Given the description of an element on the screen output the (x, y) to click on. 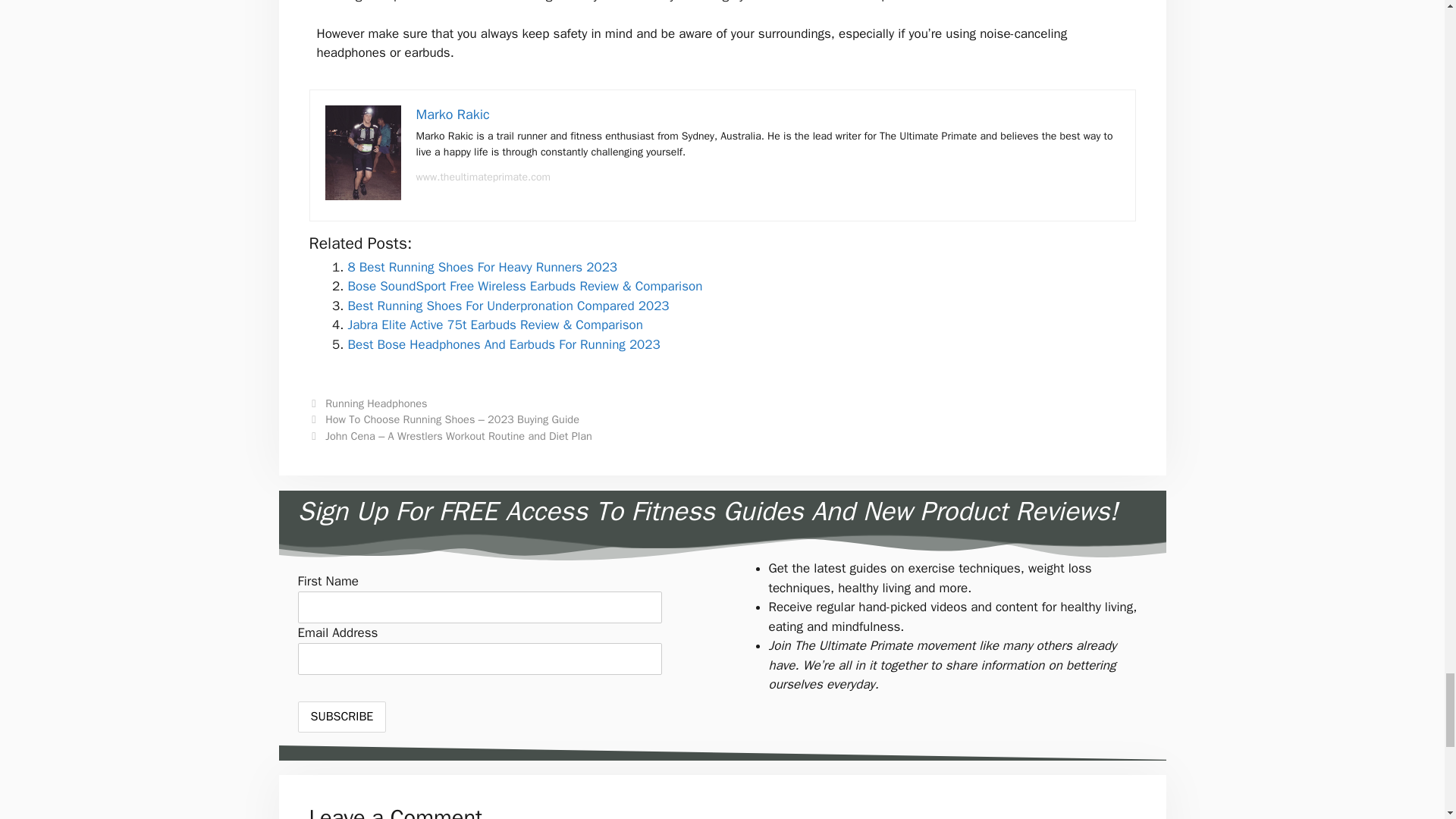
Best Running Shoes For Underpronation Compared 2023 (507, 305)
8 Best Running Shoes For Heavy Runners 2023 (482, 267)
Best Bose Headphones And Earbuds For Running 2023 (503, 344)
Subscribe (341, 716)
